Given the description of an element on the screen output the (x, y) to click on. 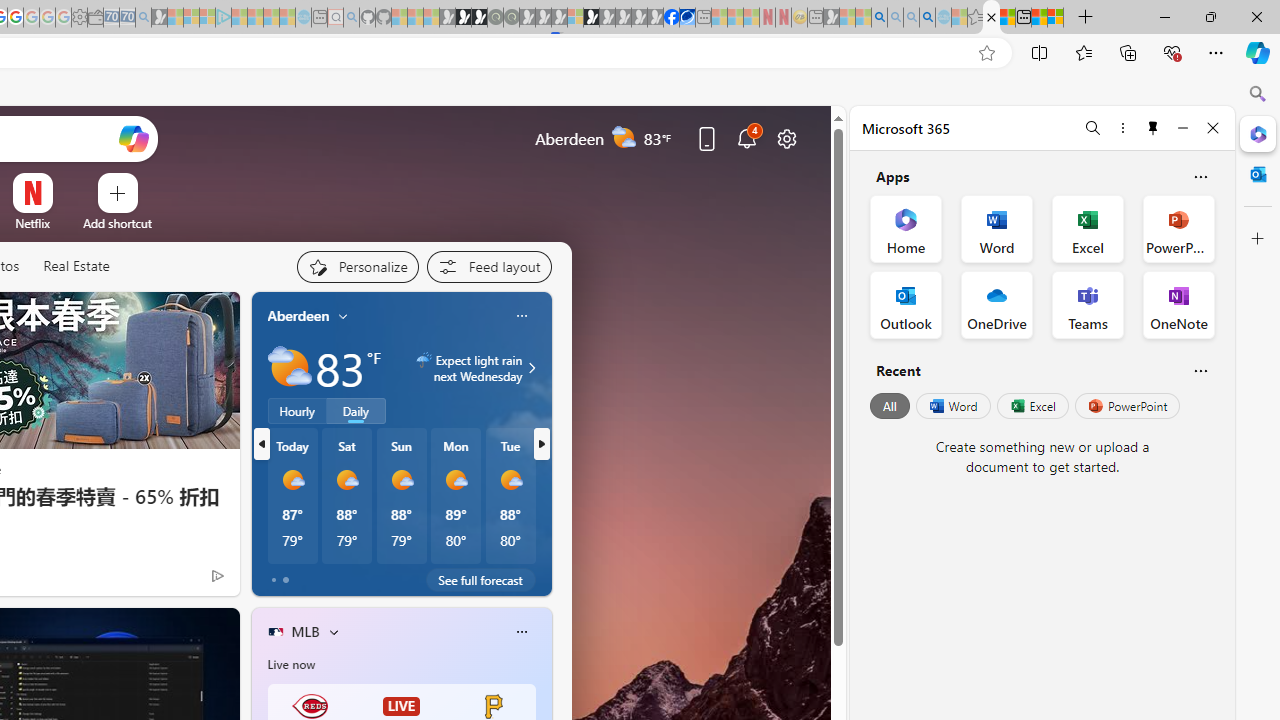
tab-0 (273, 579)
Notifications (746, 138)
Future Focus Report 2024 - Sleeping (511, 17)
Real Estate (75, 267)
